Given the description of an element on the screen output the (x, y) to click on. 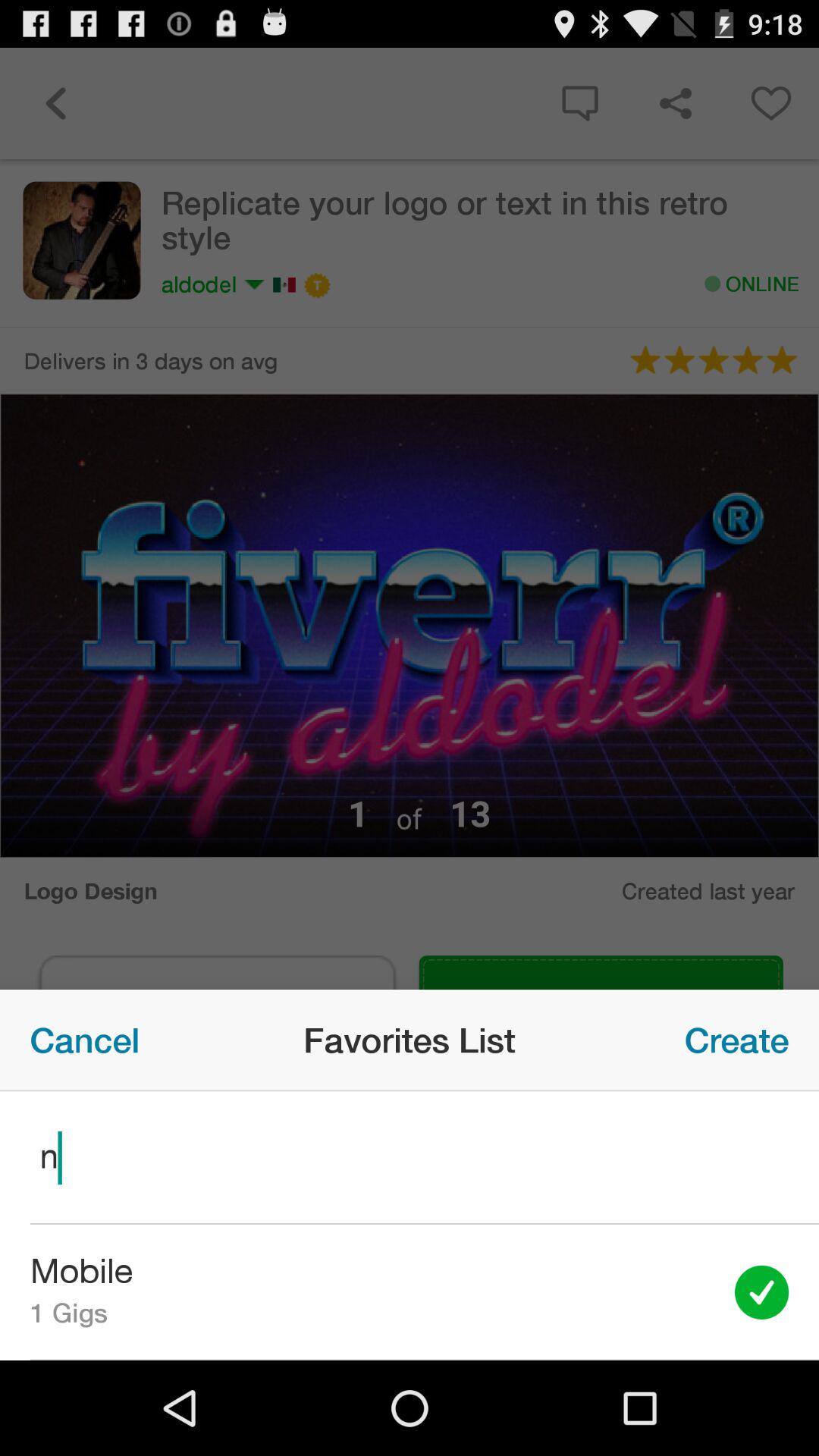
press item next to favorites list item (736, 1039)
